Given the description of an element on the screen output the (x, y) to click on. 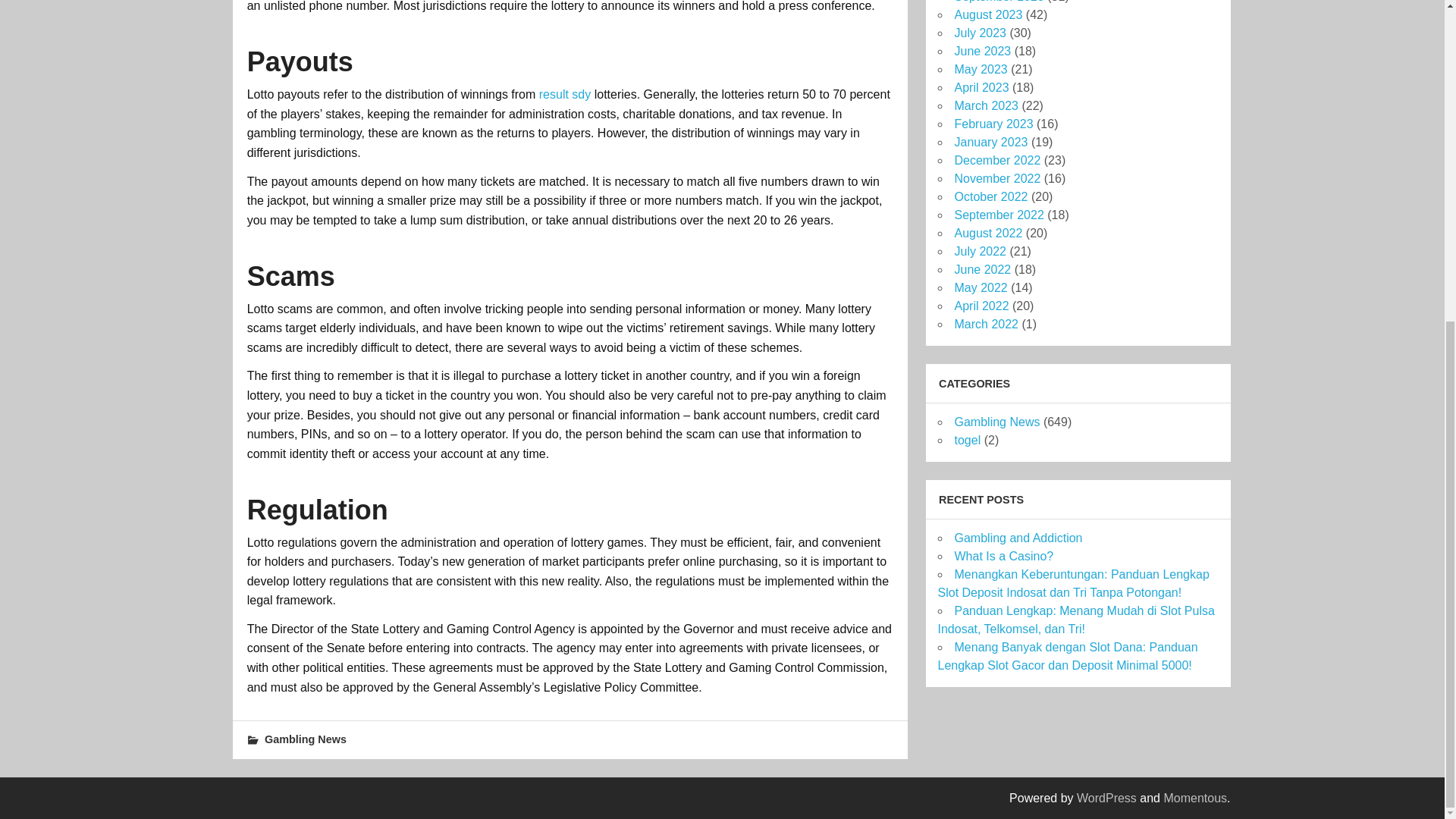
September 2023 (998, 1)
December 2022 (997, 160)
April 2022 (981, 305)
July 2022 (979, 250)
June 2022 (981, 269)
May 2022 (980, 287)
Gambling News (305, 739)
result sdy (564, 93)
August 2022 (987, 232)
October 2022 (990, 196)
